Given the description of an element on the screen output the (x, y) to click on. 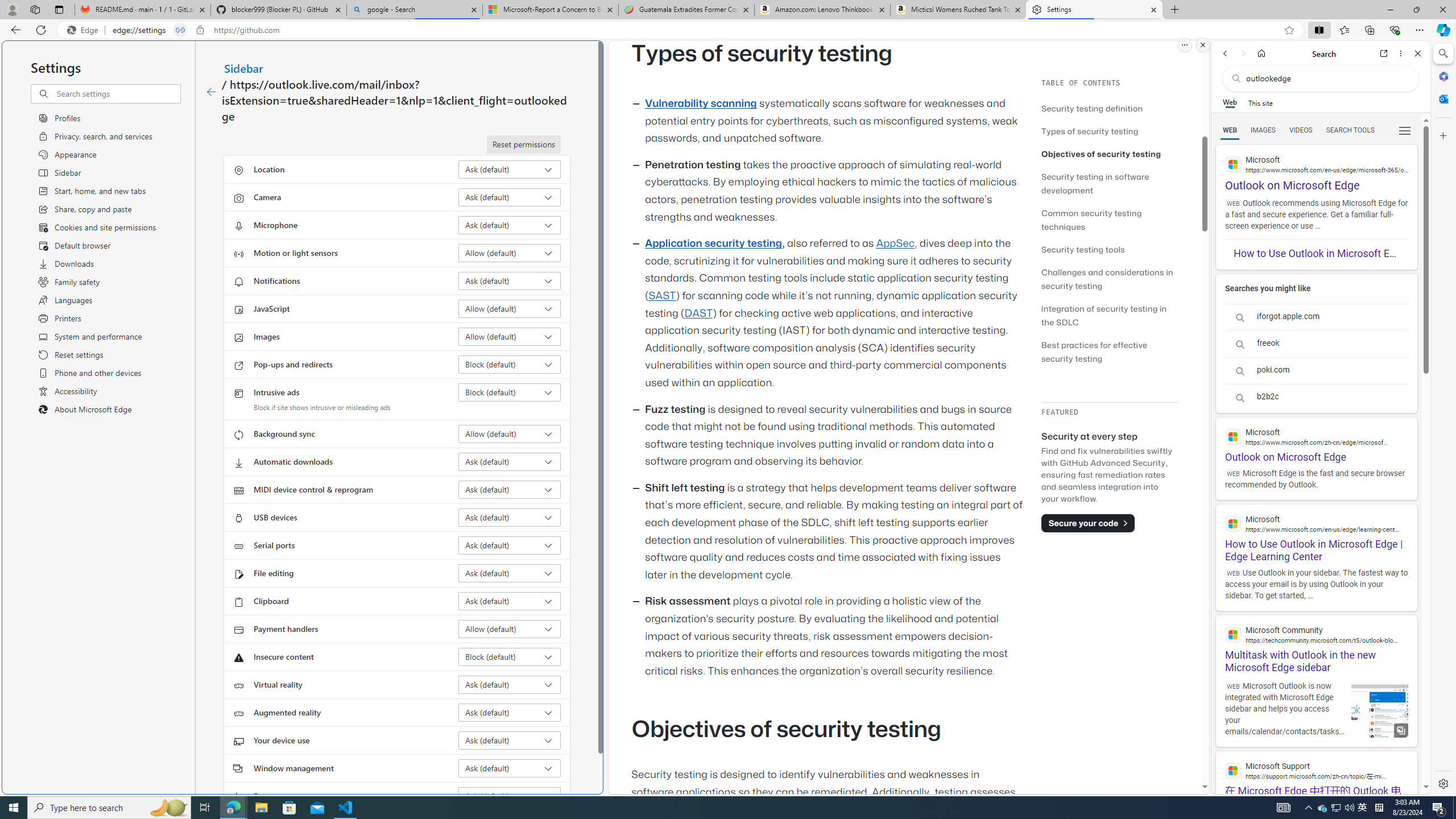
Security testing definition (1091, 108)
Automatic downloads Ask (default) (509, 461)
Intrusive ads Block (default) (509, 392)
Security testing tools (1109, 249)
Search Filter, WEB (1230, 129)
Location Ask (default) (509, 169)
Secure your code (1088, 522)
